Given the description of an element on the screen output the (x, y) to click on. 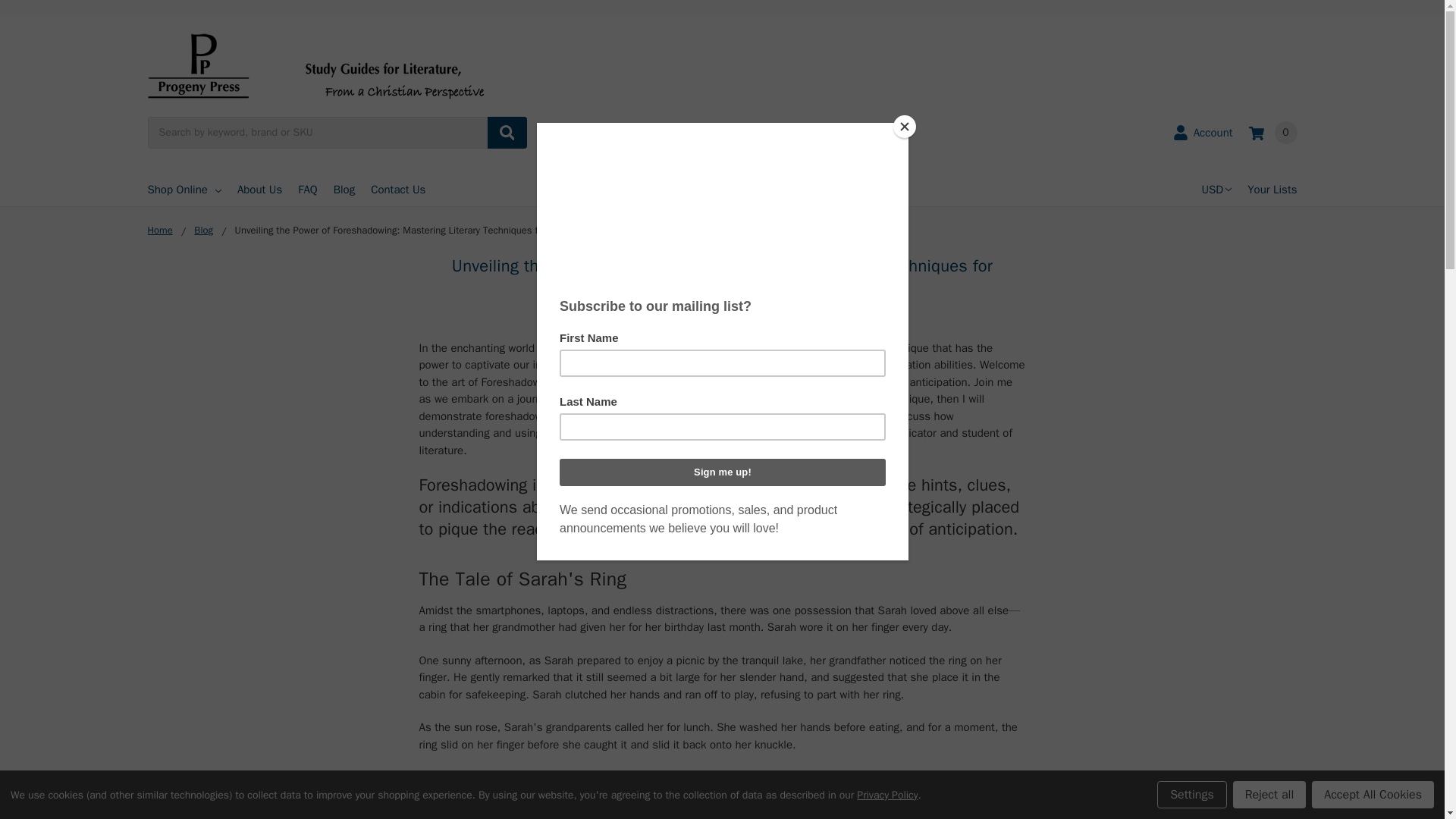
Account (1203, 132)
0 (1273, 132)
Progeny Press (317, 65)
Shop Online (184, 189)
